Given the description of an element on the screen output the (x, y) to click on. 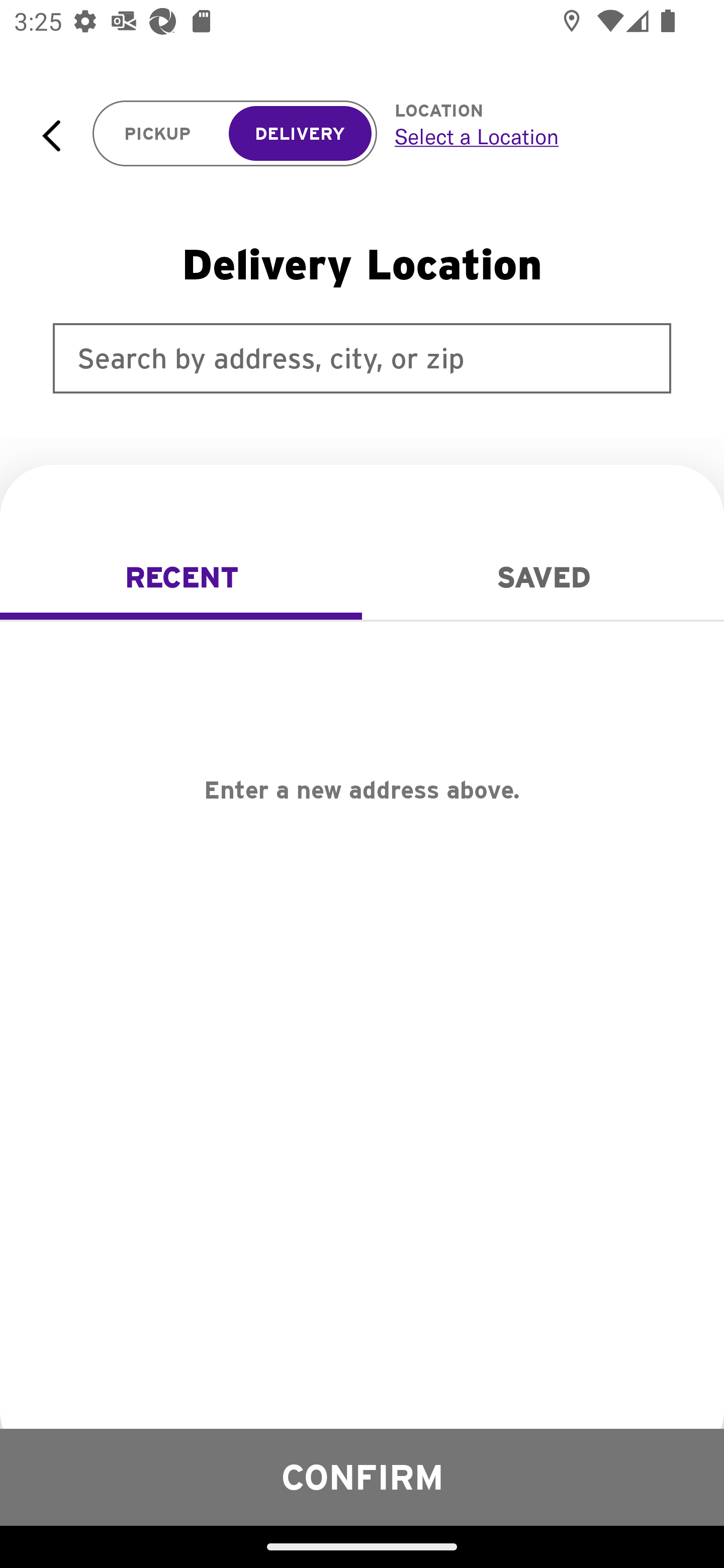
PICKUP (157, 133)
DELIVERY (299, 133)
Select a Location (536, 136)
Search by address, city, or zip (361, 358)
Saved SAVED (543, 576)
CONFIRM (362, 1476)
